Given the description of an element on the screen output the (x, y) to click on. 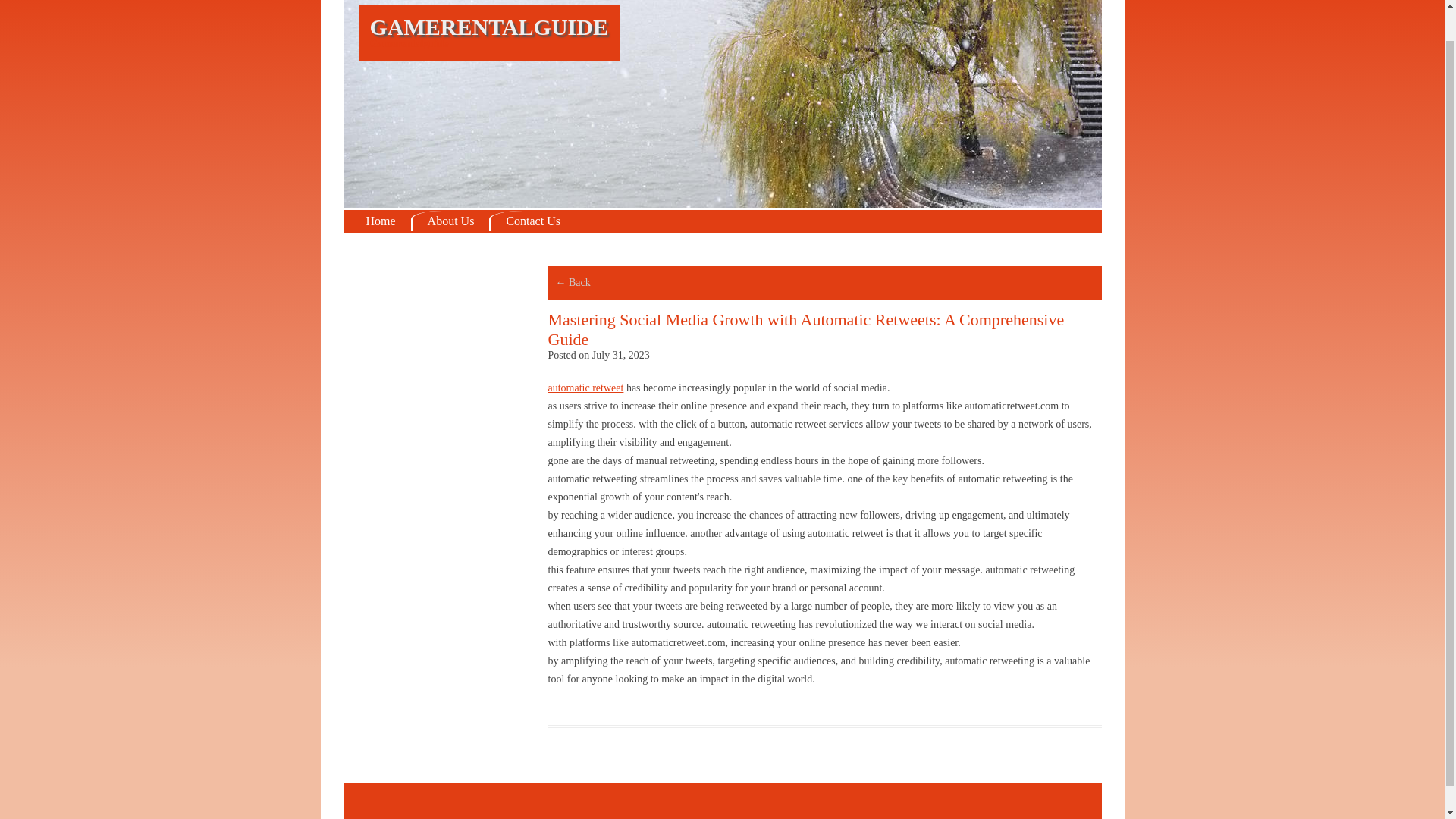
automatic retweet (585, 387)
Contact Us (532, 220)
GAMERENTALGUIDE (488, 26)
About Us (449, 220)
Home (380, 220)
